Given the description of an element on the screen output the (x, y) to click on. 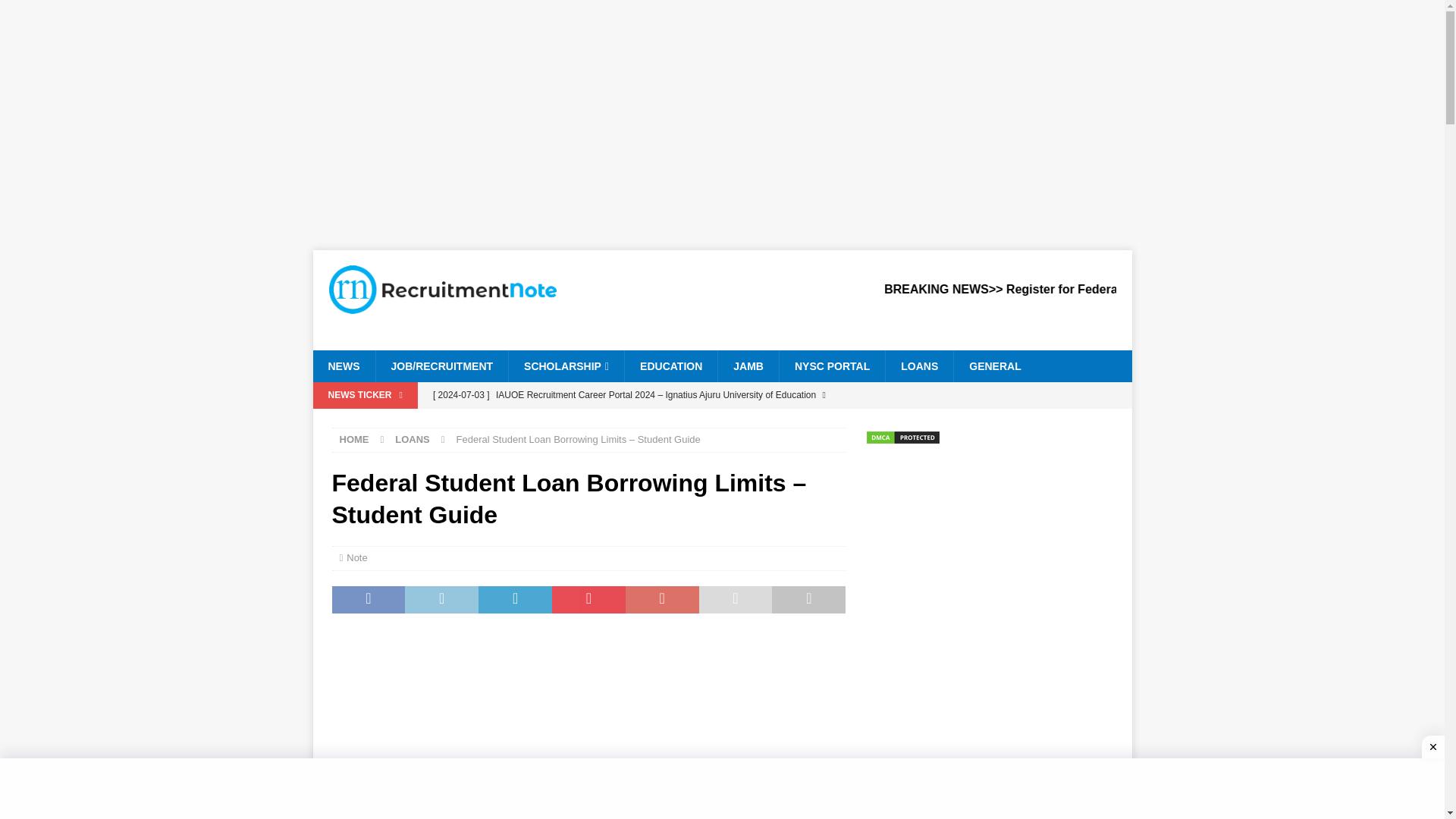
Note (356, 557)
NYSC PORTAL (831, 366)
SCHOLARSHIP (566, 366)
GENERAL (994, 366)
JAMB (747, 366)
HOME (354, 439)
EDUCATION (670, 366)
NEWS (343, 366)
LOANS (919, 366)
LOANS (411, 439)
